Given the description of an element on the screen output the (x, y) to click on. 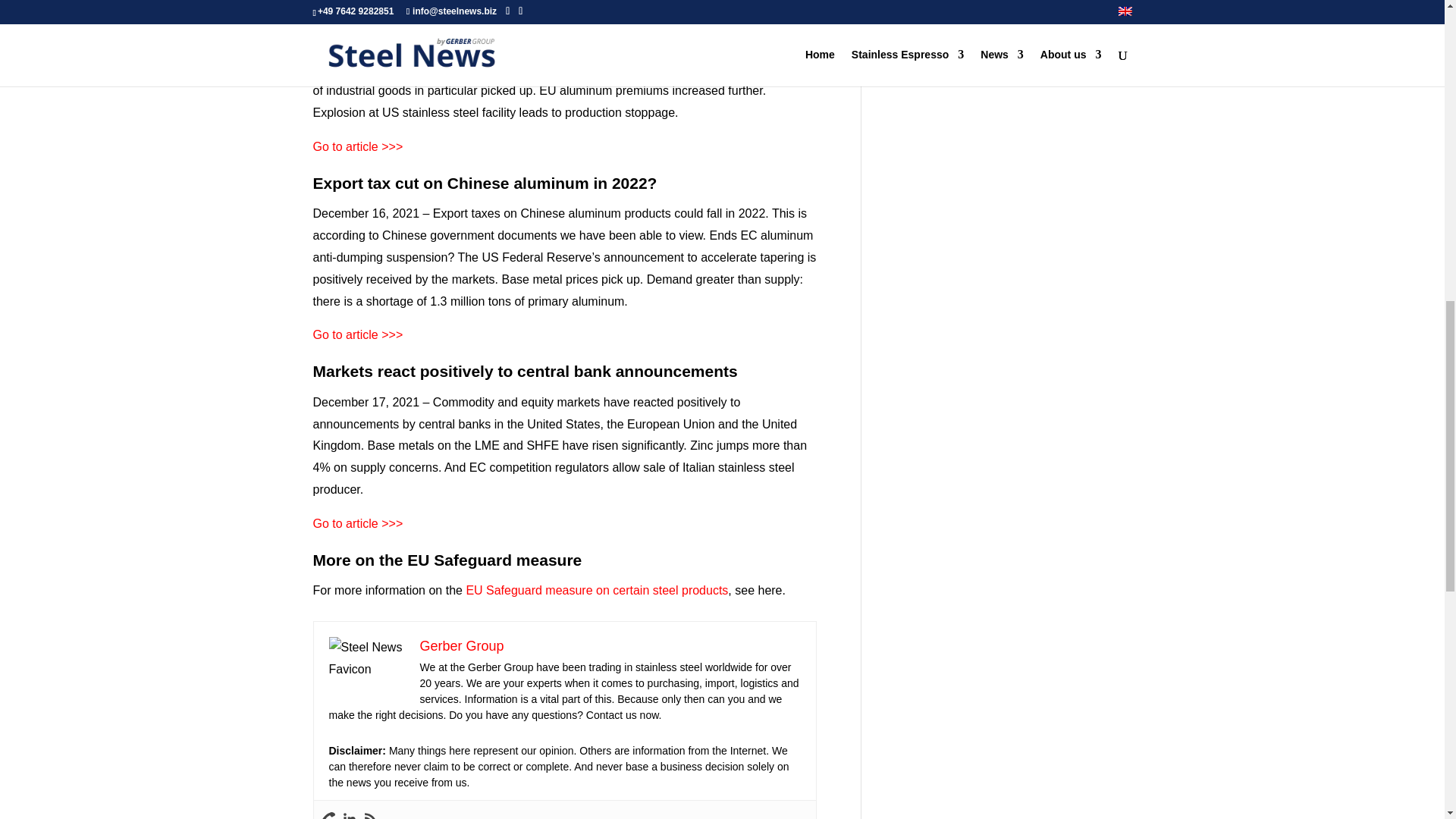
Rss (370, 815)
Gerber Group (461, 645)
Phone (327, 815)
Linkedin (349, 815)
EU Safeguard measure on certain steel products (596, 590)
